Given the description of an element on the screen output the (x, y) to click on. 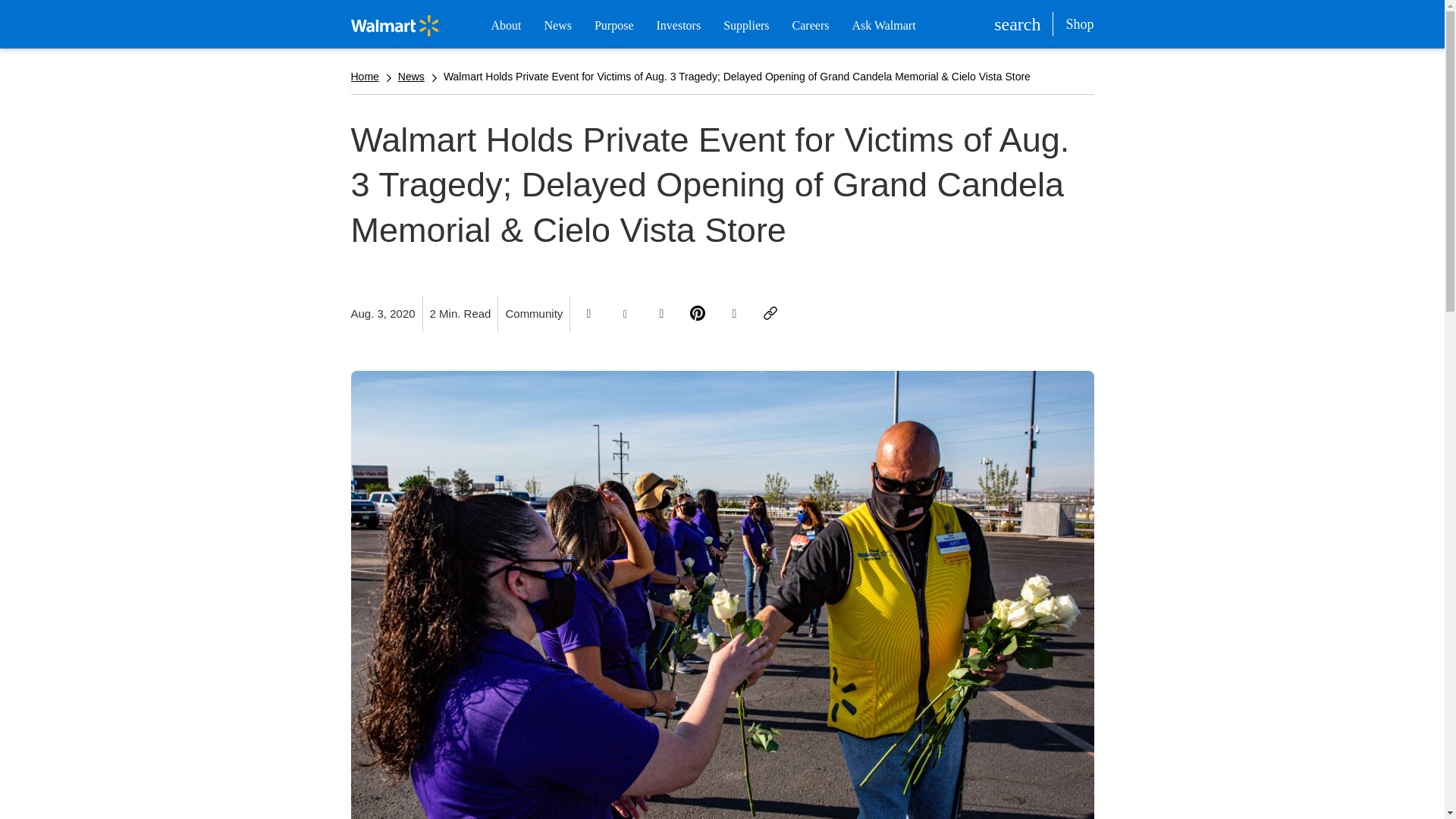
Share With Email (734, 313)
Copy link to clipboard (769, 313)
About (505, 25)
Investors (678, 25)
News (556, 25)
Share With X (625, 313)
Share With Linkedin (661, 313)
Purpose (613, 25)
Suppliers (745, 25)
Share With Facebook (588, 313)
Share With Pinterest (697, 313)
